Given the description of an element on the screen output the (x, y) to click on. 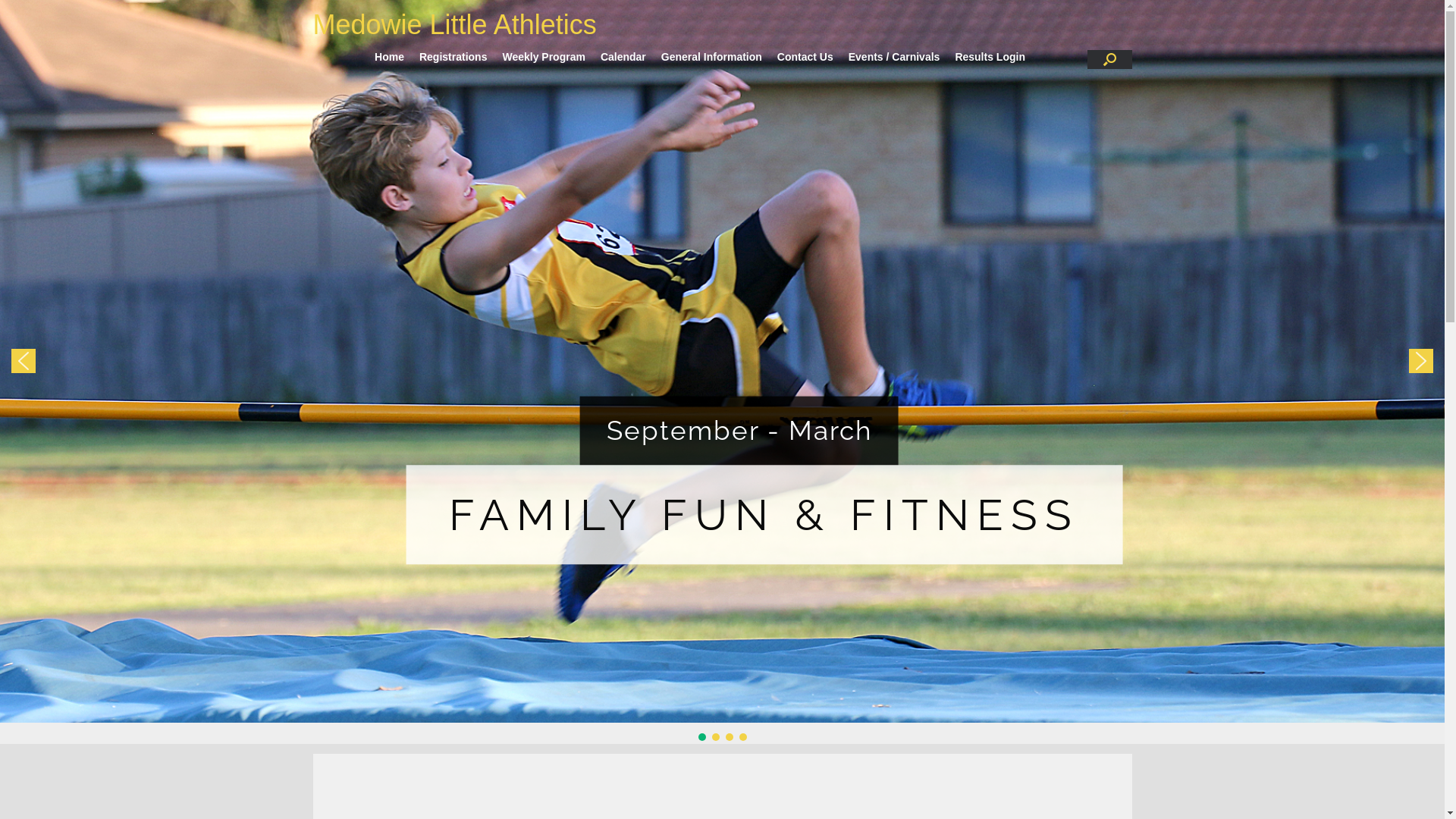
Registrations Element type: text (452, 56)
Medowie Little Athletics Element type: text (454, 24)
Home Element type: text (389, 56)
Results Login Element type: text (989, 56)
General Information Element type: text (711, 56)
Weekly Program Element type: text (543, 56)
Events / Carnivals Element type: text (893, 56)
Contact Us Element type: text (804, 56)
Calendar Element type: text (623, 56)
